Given the description of an element on the screen output the (x, y) to click on. 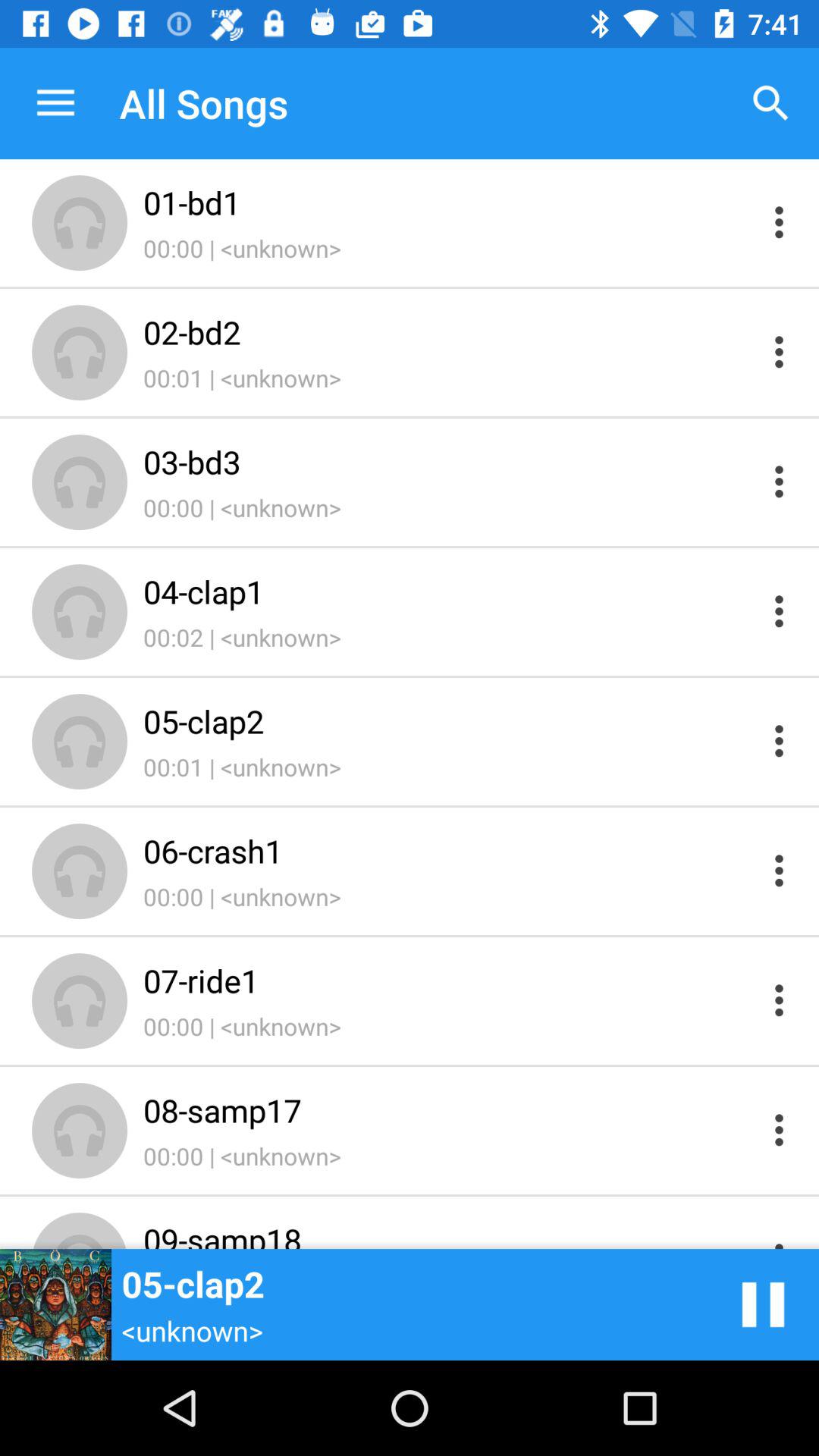
click the item above 00:02 | <unknown> (449, 591)
